Given the description of an element on the screen output the (x, y) to click on. 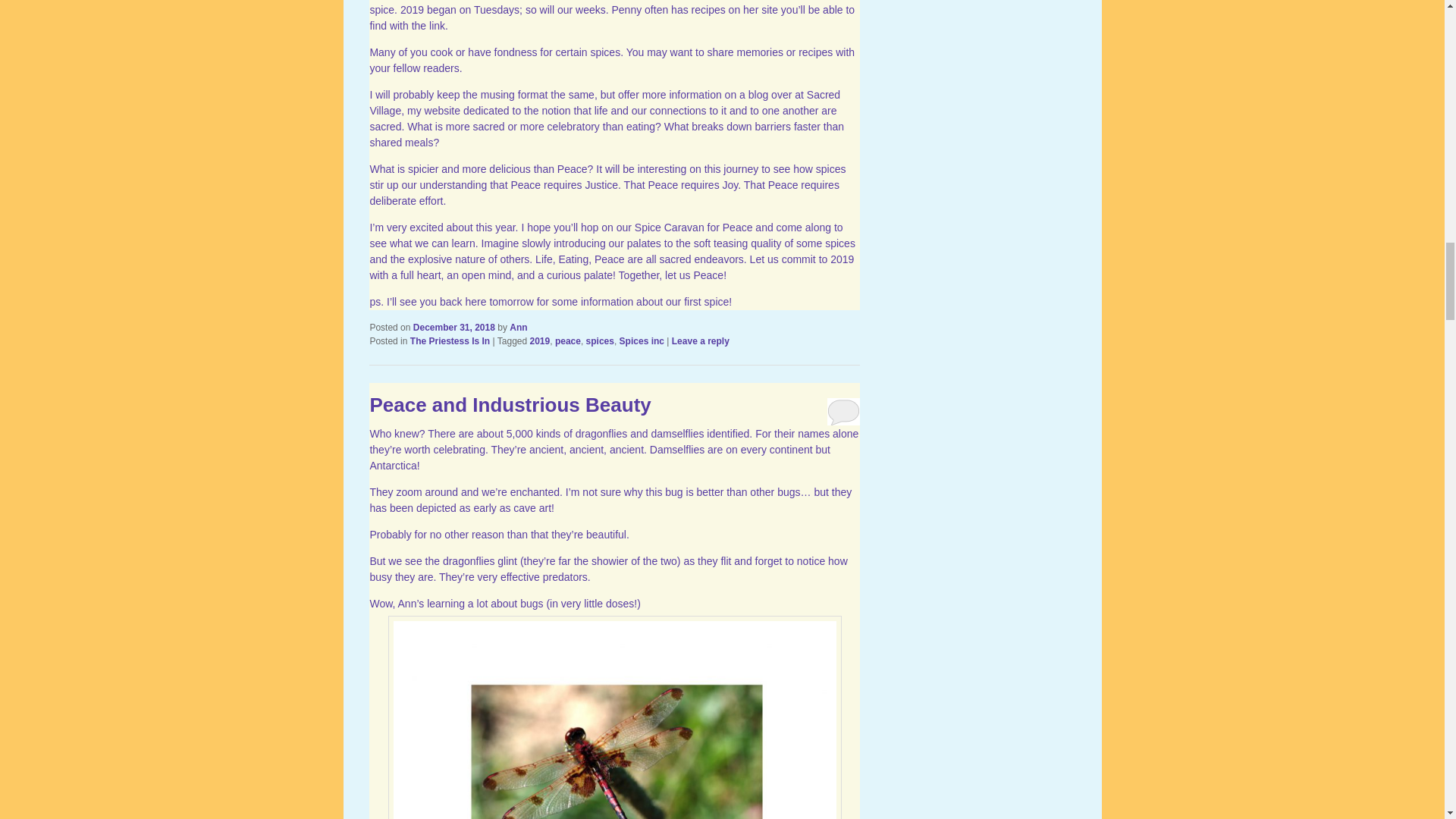
2:07 pm (454, 327)
View all posts by Ann (518, 327)
Permalink to Peace and Industrious Beauty (509, 404)
